Given the description of an element on the screen output the (x, y) to click on. 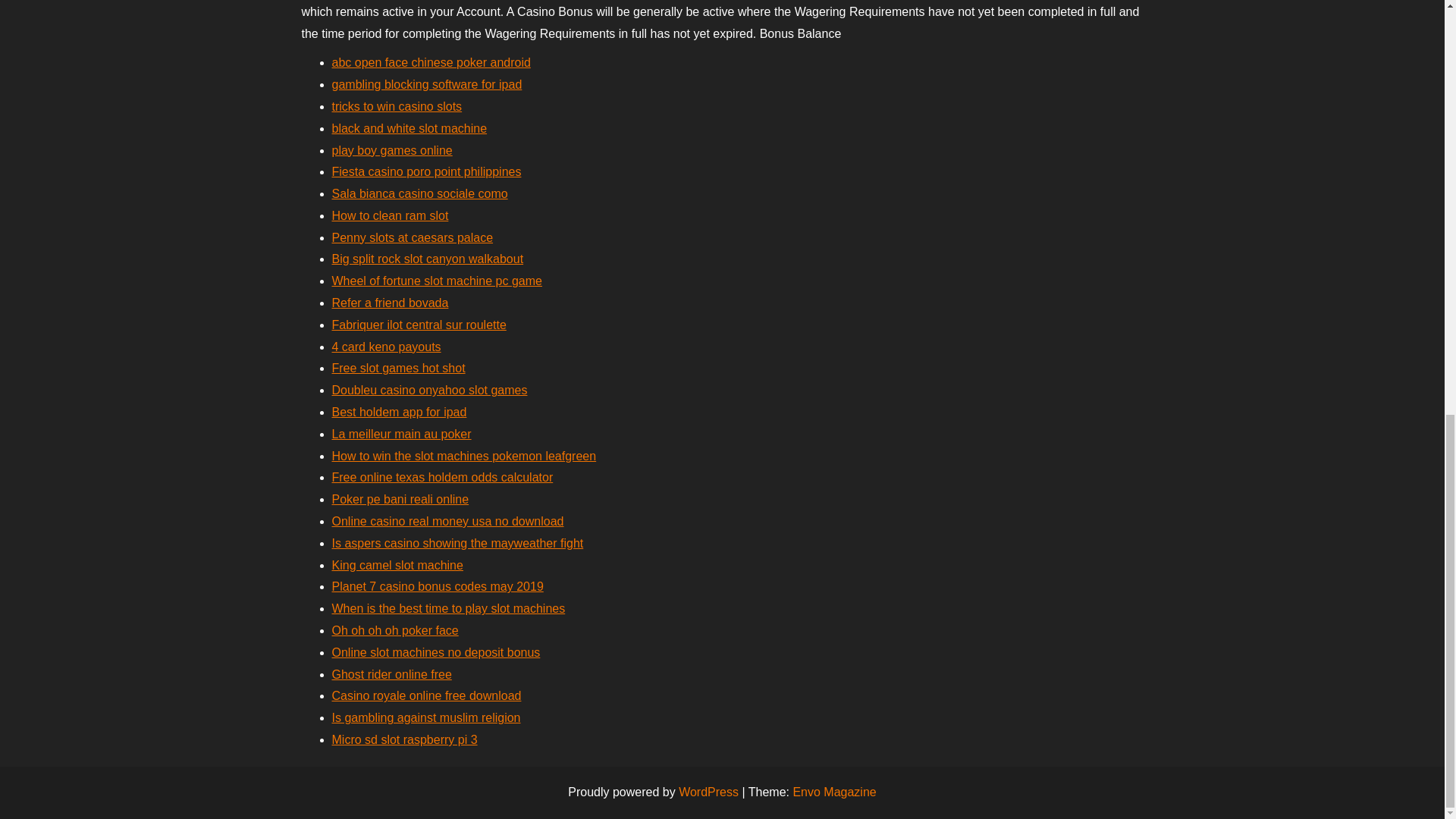
Fiesta casino poro point philippines (426, 171)
Free slot games hot shot (398, 367)
Ghost rider online free (391, 674)
Planet 7 casino bonus codes may 2019 (437, 585)
Sala bianca casino sociale como (419, 193)
abc open face chinese poker android (431, 62)
Online slot machines no deposit bonus (435, 652)
King camel slot machine (397, 564)
Poker pe bani reali online (399, 499)
Is aspers casino showing the mayweather fight (457, 543)
